Given the description of an element on the screen output the (x, y) to click on. 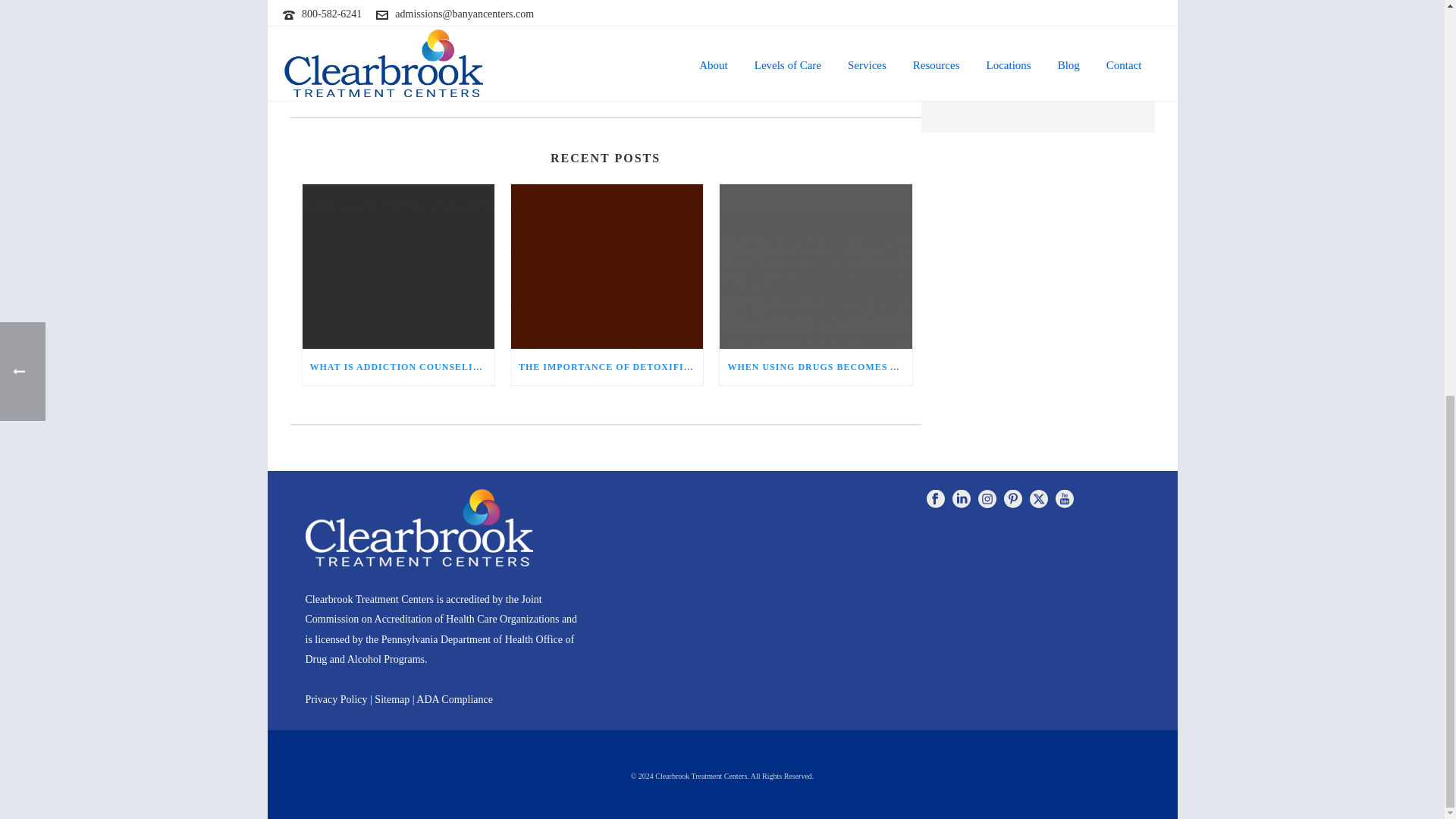
What is Addiction Counseling? (397, 266)
Get in touch with me via email (359, 90)
The Importance of Detoxification for Drug Rehabilitation (607, 266)
